Given the description of an element on the screen output the (x, y) to click on. 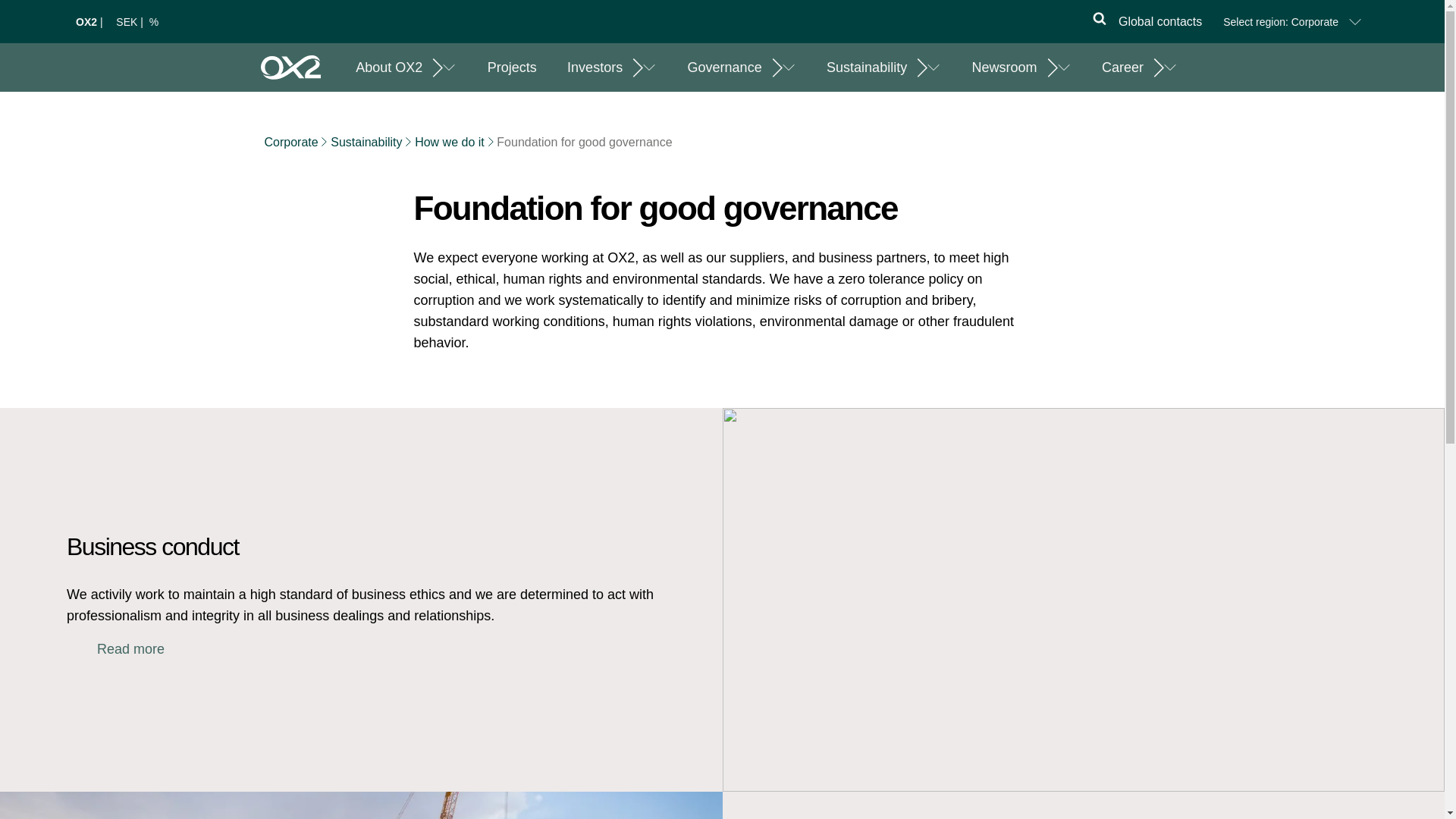
About OX2 (388, 66)
Global contacts (1160, 21)
